Given the description of an element on the screen output the (x, y) to click on. 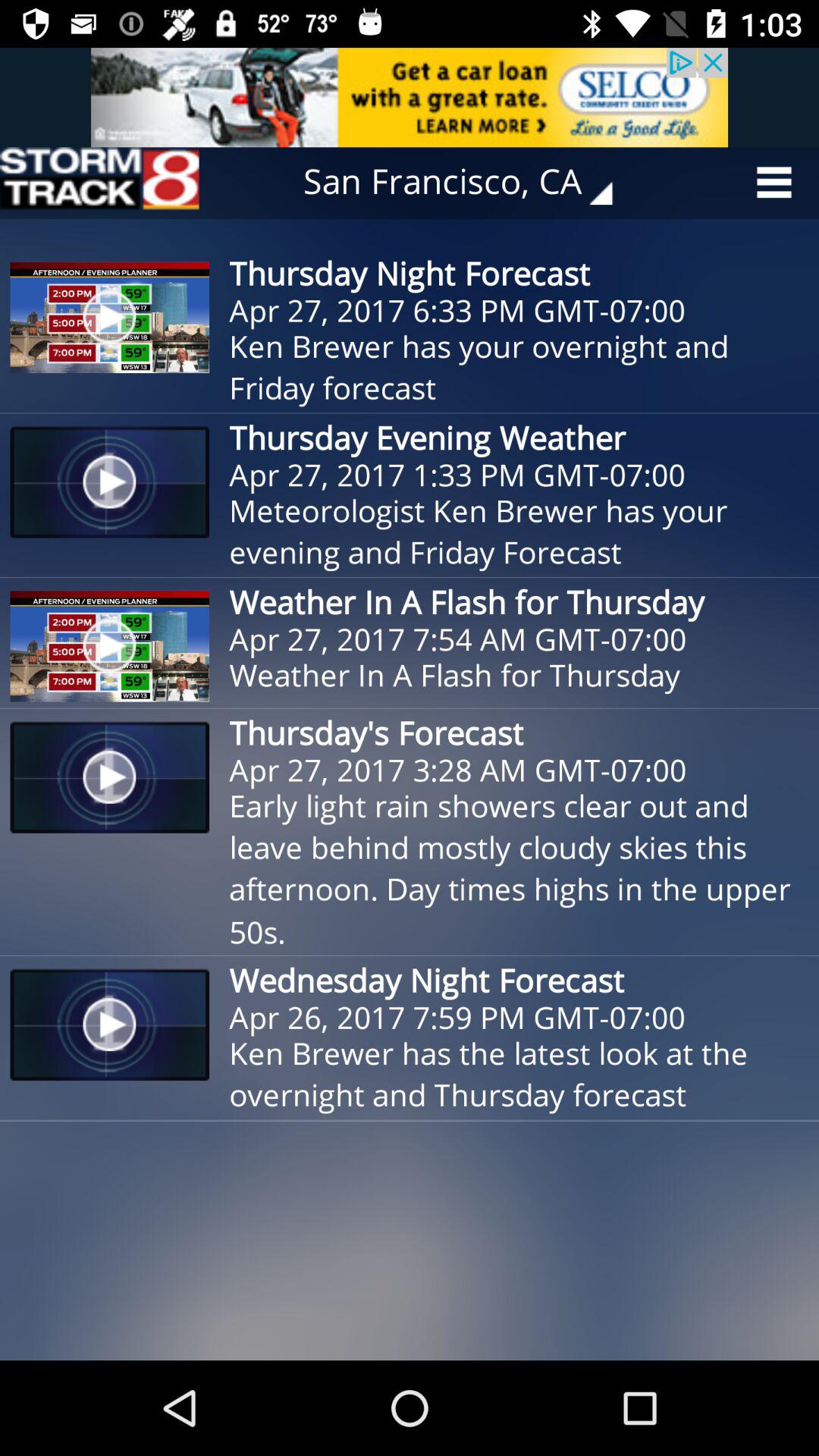
click advertisement (409, 97)
